Given the description of an element on the screen output the (x, y) to click on. 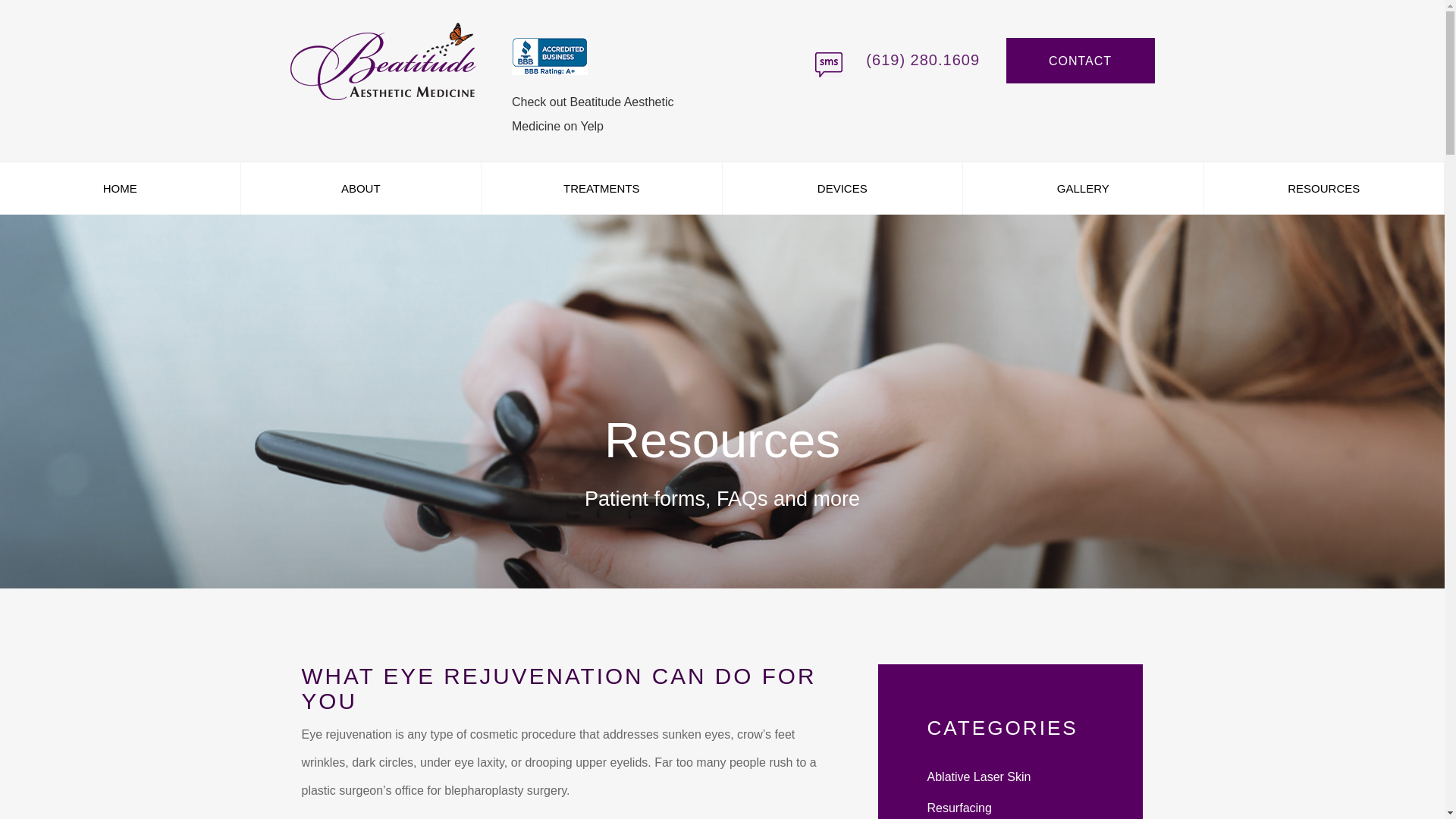
Ablative Laser Skin Resurfacing (978, 792)
HOME (120, 188)
CONTACT (1080, 60)
View all posts in Ablative Laser Skin Resurfacing (978, 792)
Check out Beatitude Aesthetic Medicine on Yelp (592, 113)
GALLERY (1083, 188)
ABOUT (361, 188)
DEVICES (842, 188)
Yelp Page (638, 58)
TREATMENTS (601, 188)
